Given the description of an element on the screen output the (x, y) to click on. 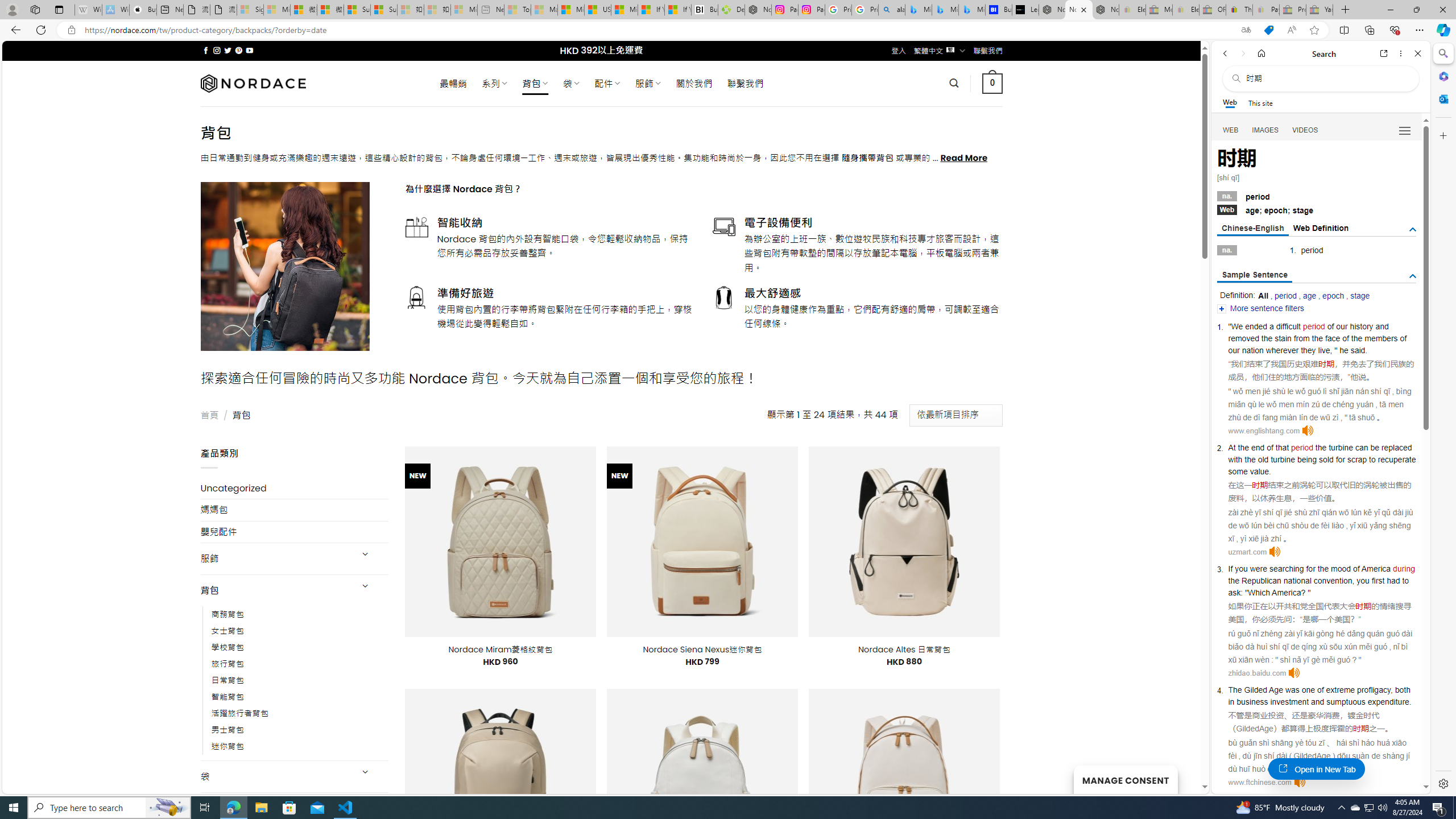
IMAGES (1265, 130)
Search Filter, WEB (1231, 129)
www.ftchinese.com (1259, 782)
Open link in new tab (1383, 53)
AutomationID: tgdef (1412, 229)
na.period (1316, 195)
investment (1288, 700)
that (1282, 447)
Nordace (252, 83)
